Given the description of an element on the screen output the (x, y) to click on. 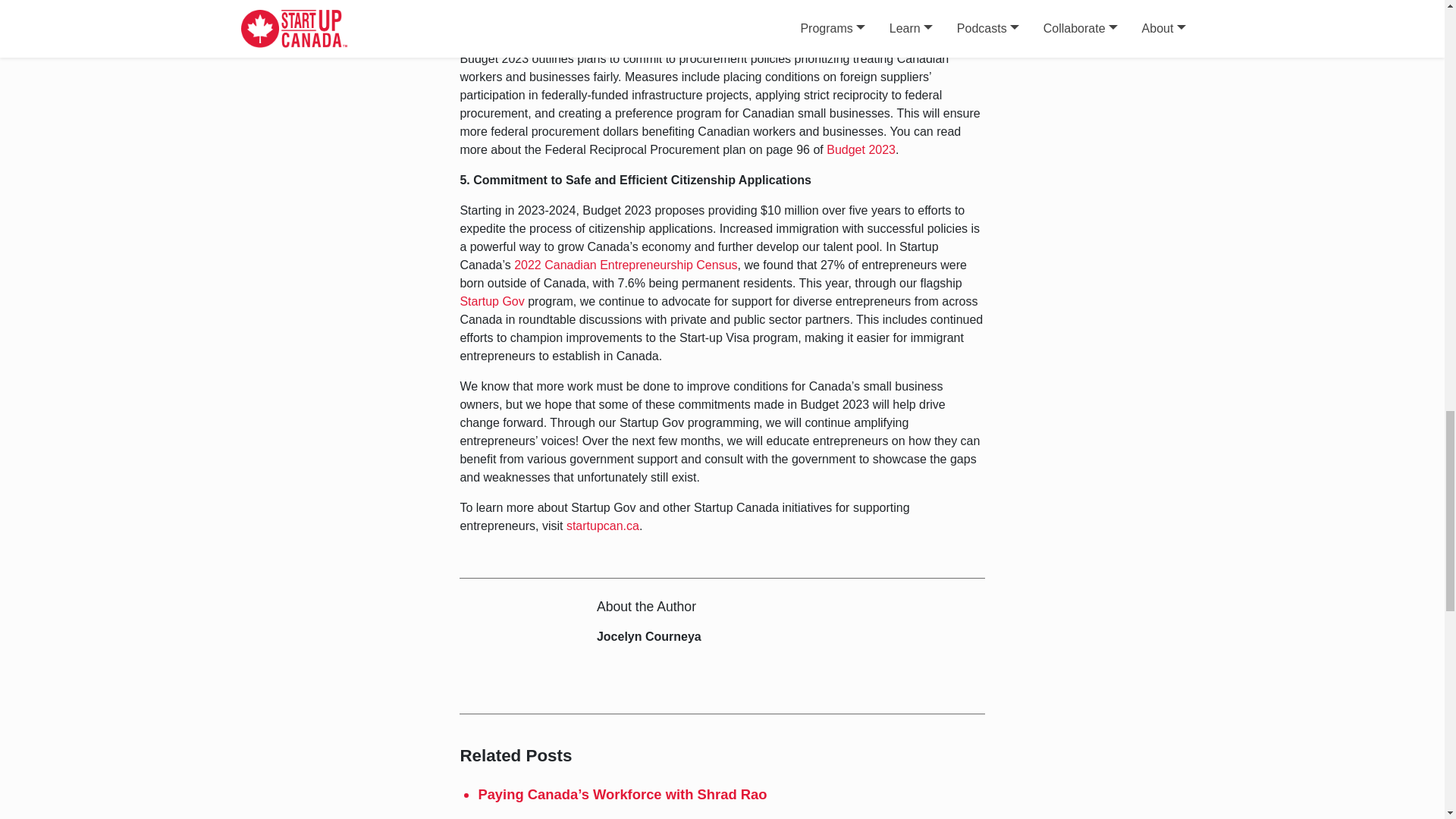
Budget 2023 (861, 149)
startupcan.ca (602, 525)
2022 Canadian Entrepreneurship Census (624, 264)
Startup Gov (492, 300)
